Given the description of an element on the screen output the (x, y) to click on. 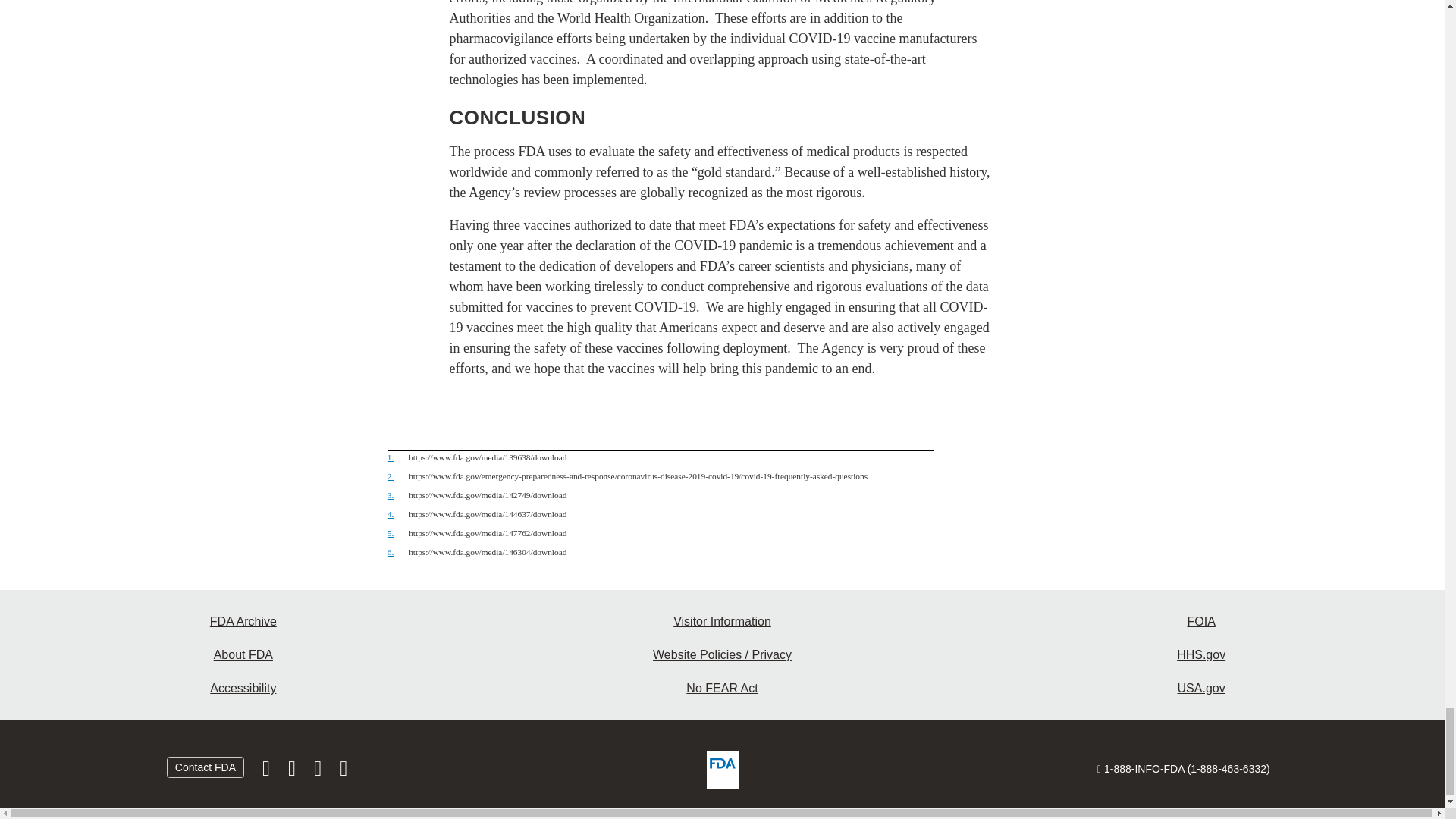
Health and Human Services (1200, 654)
Follow FDA on Facebook (267, 771)
Subscribe to FDA RSS feeds (343, 771)
Follow FDA on Twitter (293, 771)
View FDA videos on YouTube (318, 771)
Freedom of Information Act (1200, 621)
